Given the description of an element on the screen output the (x, y) to click on. 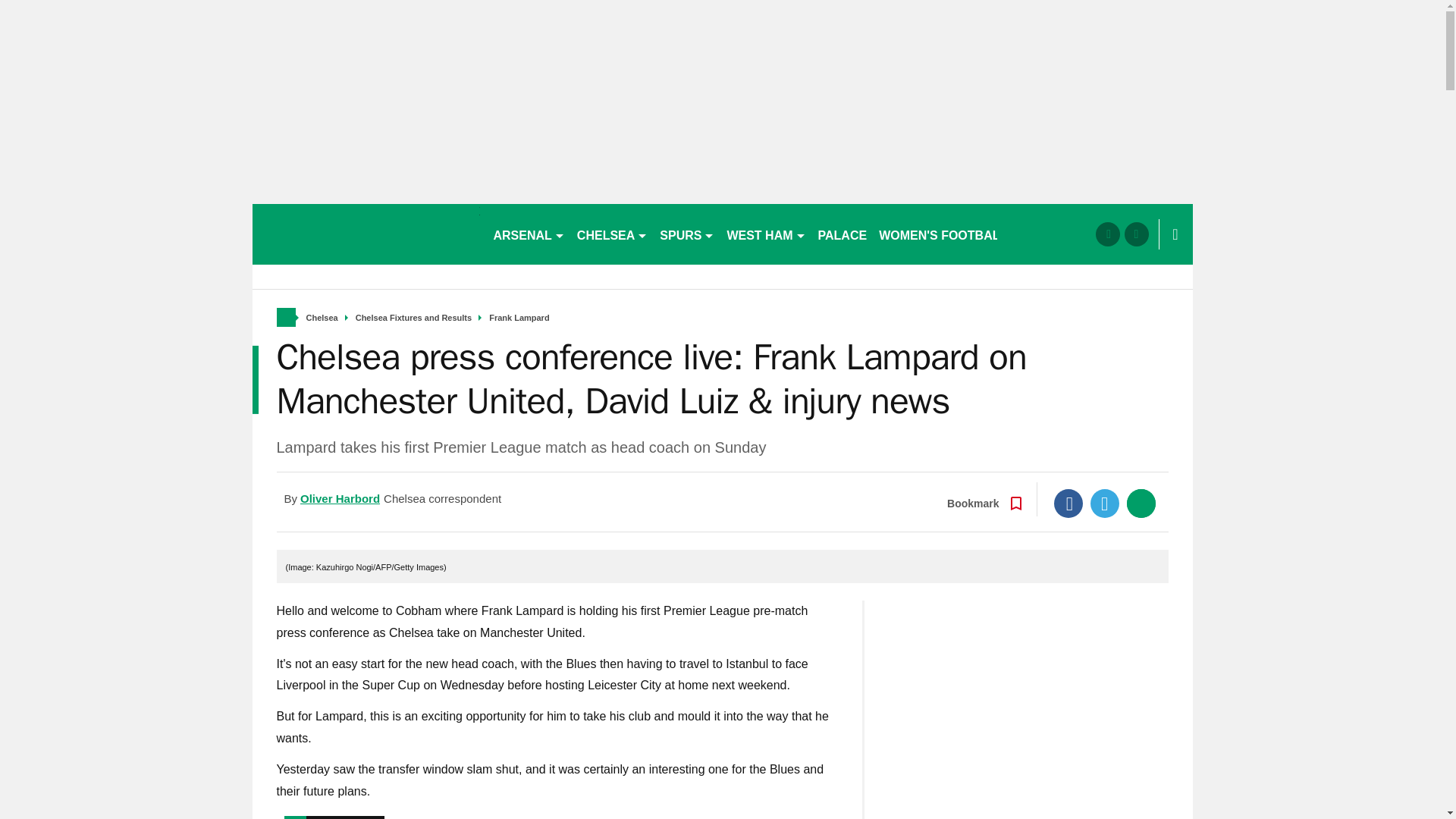
twitter (1136, 233)
Twitter (1104, 502)
PALACE (842, 233)
footballlondon (365, 233)
Facebook (1068, 502)
WEST HAM (765, 233)
WOMEN'S FOOTBALL (942, 233)
facebook (1106, 233)
SPURS (686, 233)
ARSENAL (528, 233)
CHELSEA (611, 233)
